Given the description of an element on the screen output the (x, y) to click on. 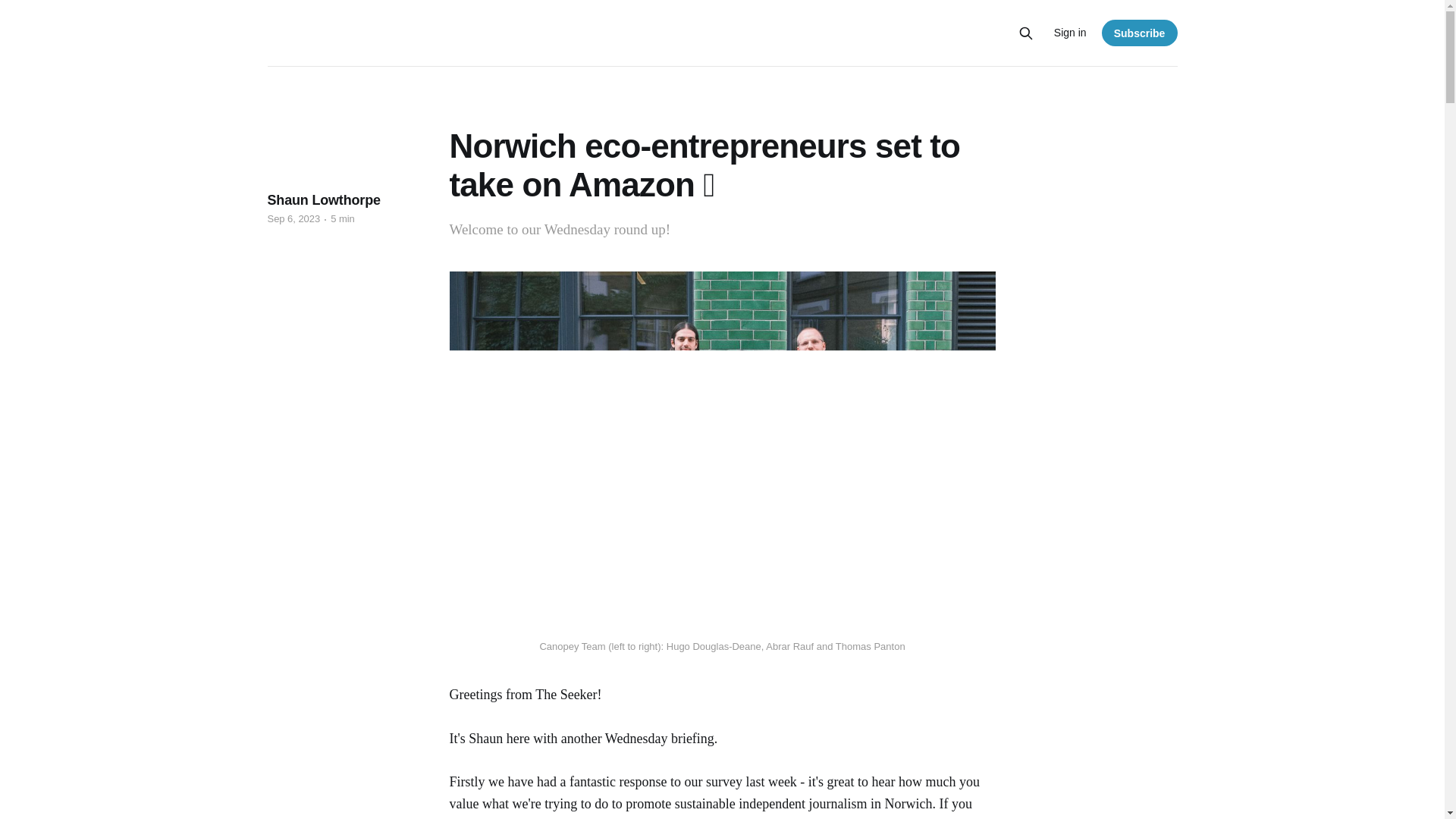
Subscribe (1139, 32)
Shaun Lowthorpe (323, 199)
Sign in (1070, 32)
